Given the description of an element on the screen output the (x, y) to click on. 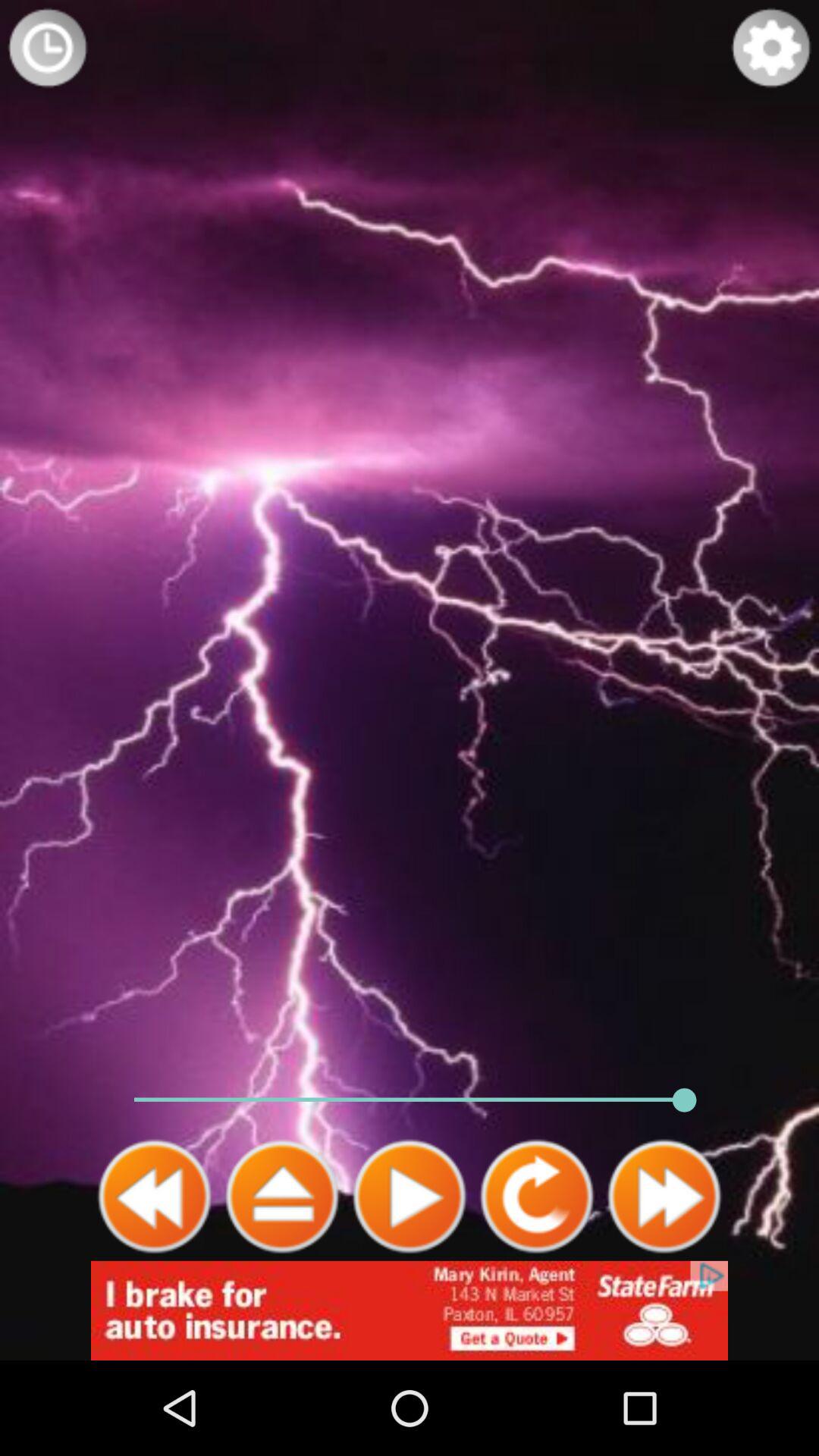
stop sound (281, 1196)
